Given the description of an element on the screen output the (x, y) to click on. 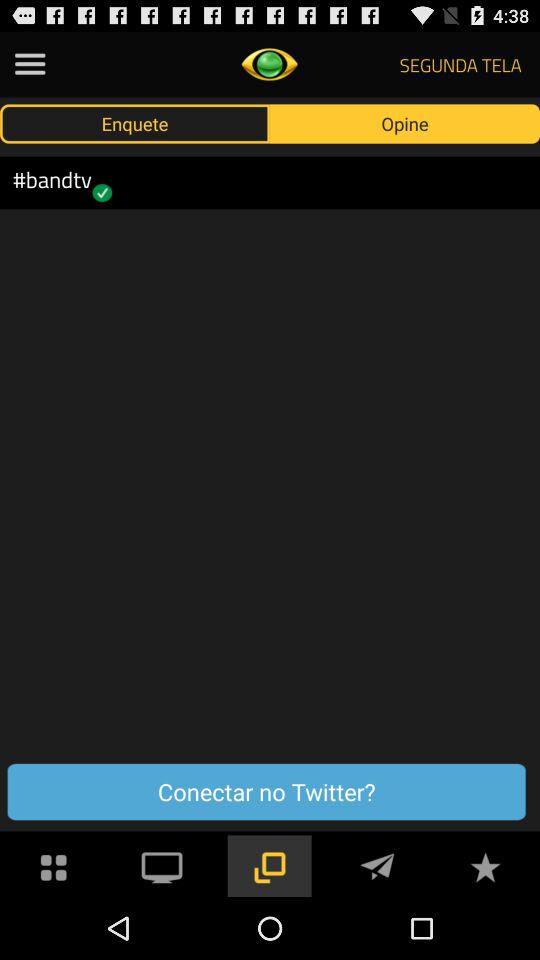
choose the icon next to enquete item (405, 123)
